Given the description of an element on the screen output the (x, y) to click on. 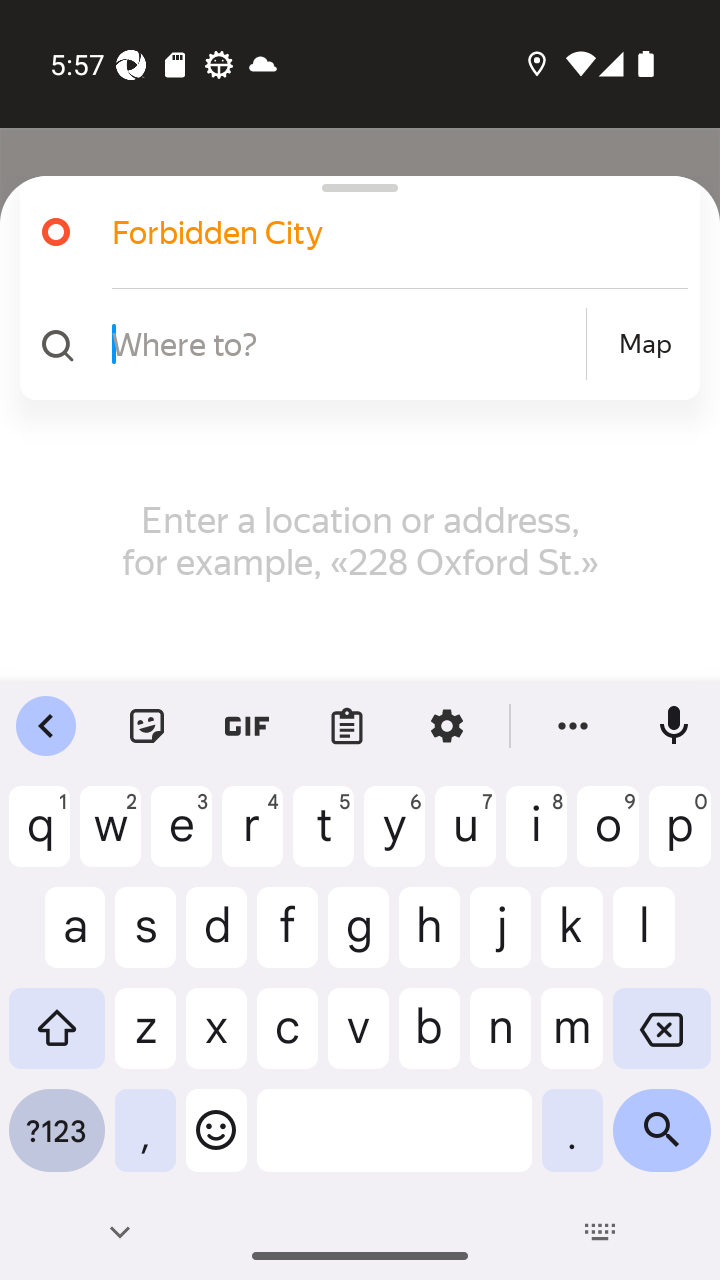
Forbidden City (352, 232)
Forbidden City (373, 232)
Where to? Map Map (352, 343)
Map (645, 343)
Where to? (346, 343)
